Given the description of an element on the screen output the (x, y) to click on. 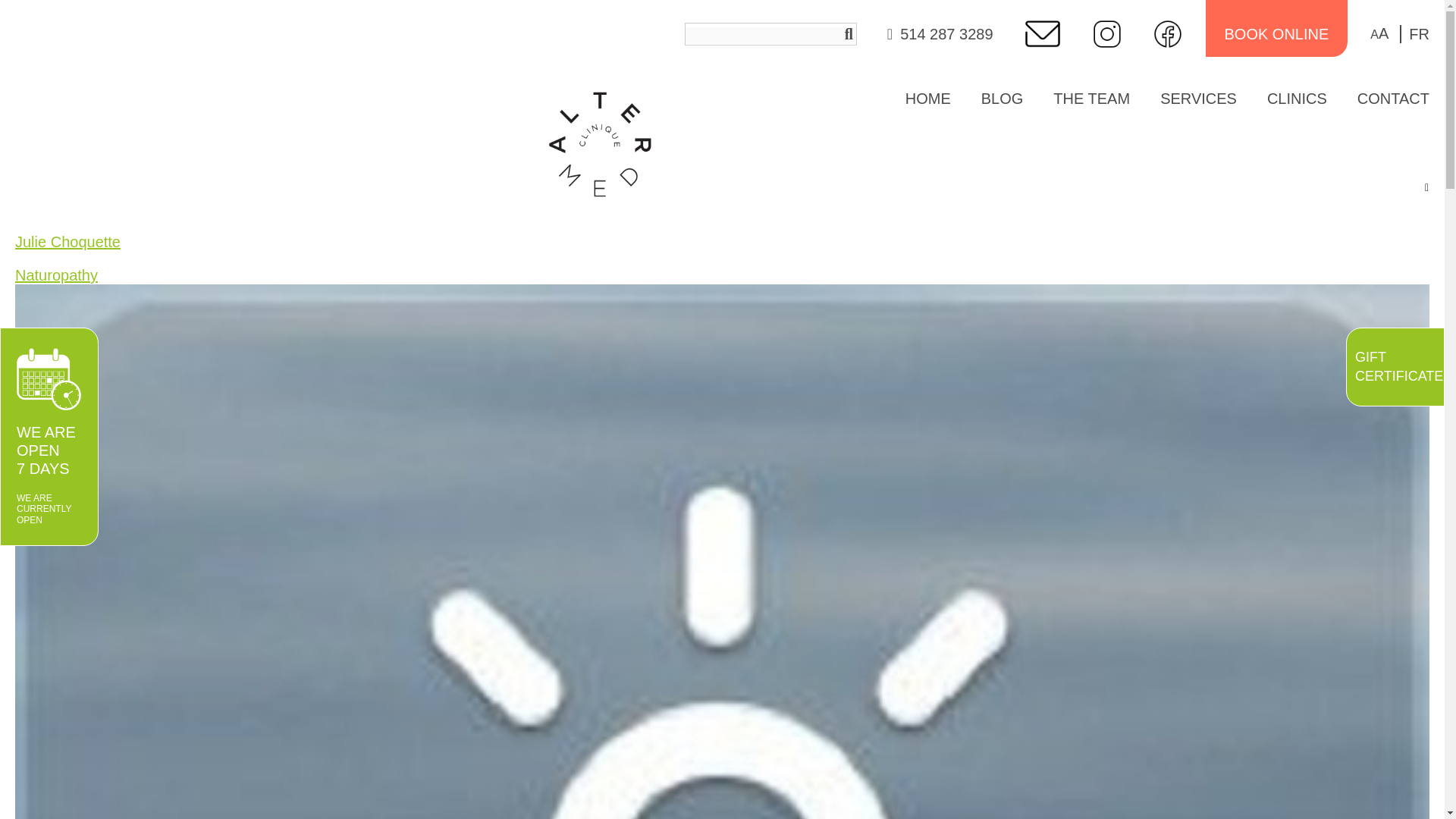
AA (1379, 33)
GIFT CERTIFICATE (1395, 366)
514 287 3289 (946, 33)
FR (1414, 34)
BOOK ONLINE (1275, 33)
